Given the description of an element on the screen output the (x, y) to click on. 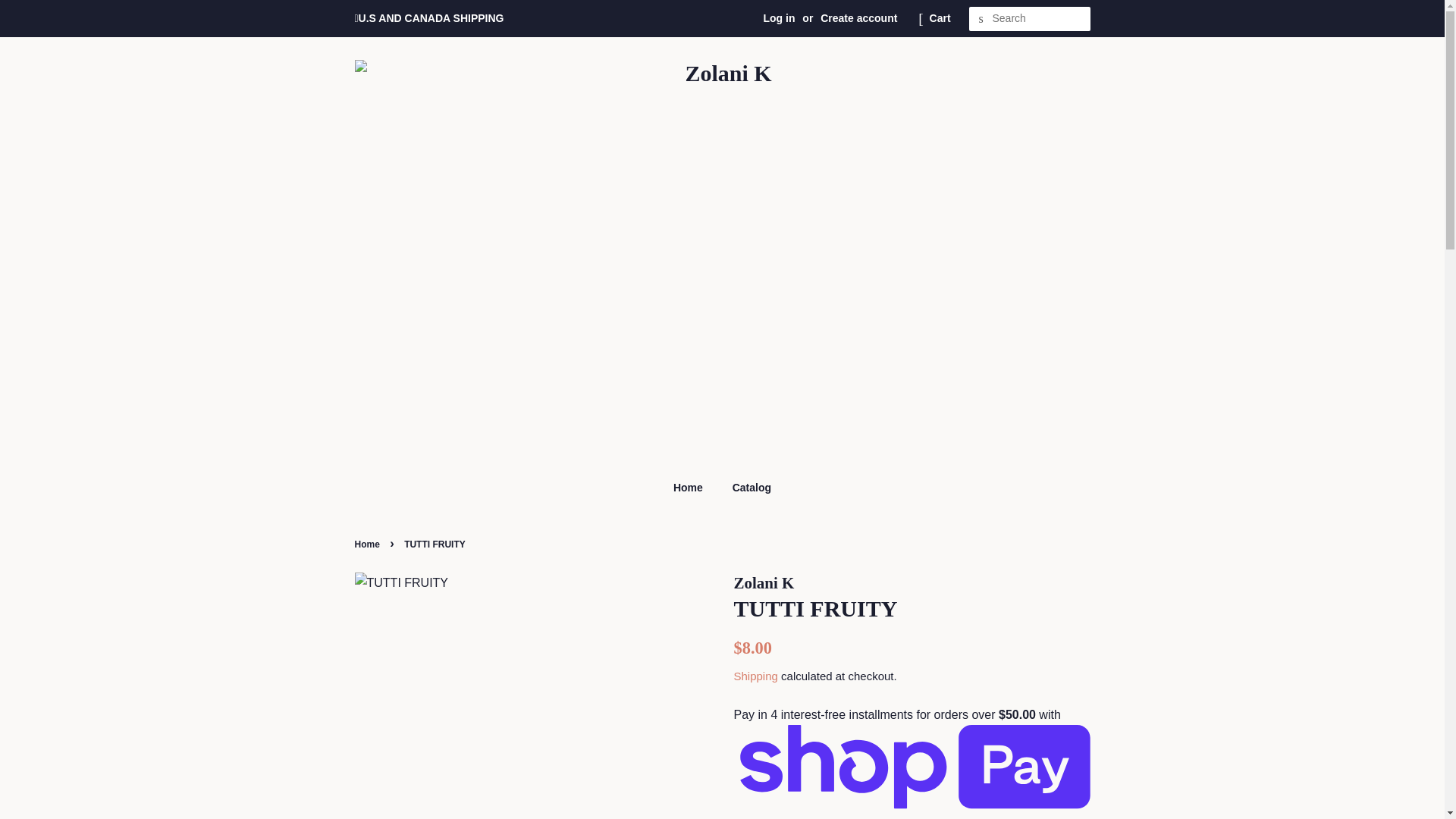
Search (980, 18)
Shipping (755, 675)
Log in (778, 18)
Home (694, 488)
Cart (940, 18)
Create account (858, 18)
Catalog (745, 488)
Home (369, 543)
Back to the frontpage (369, 543)
